Given the description of an element on the screen output the (x, y) to click on. 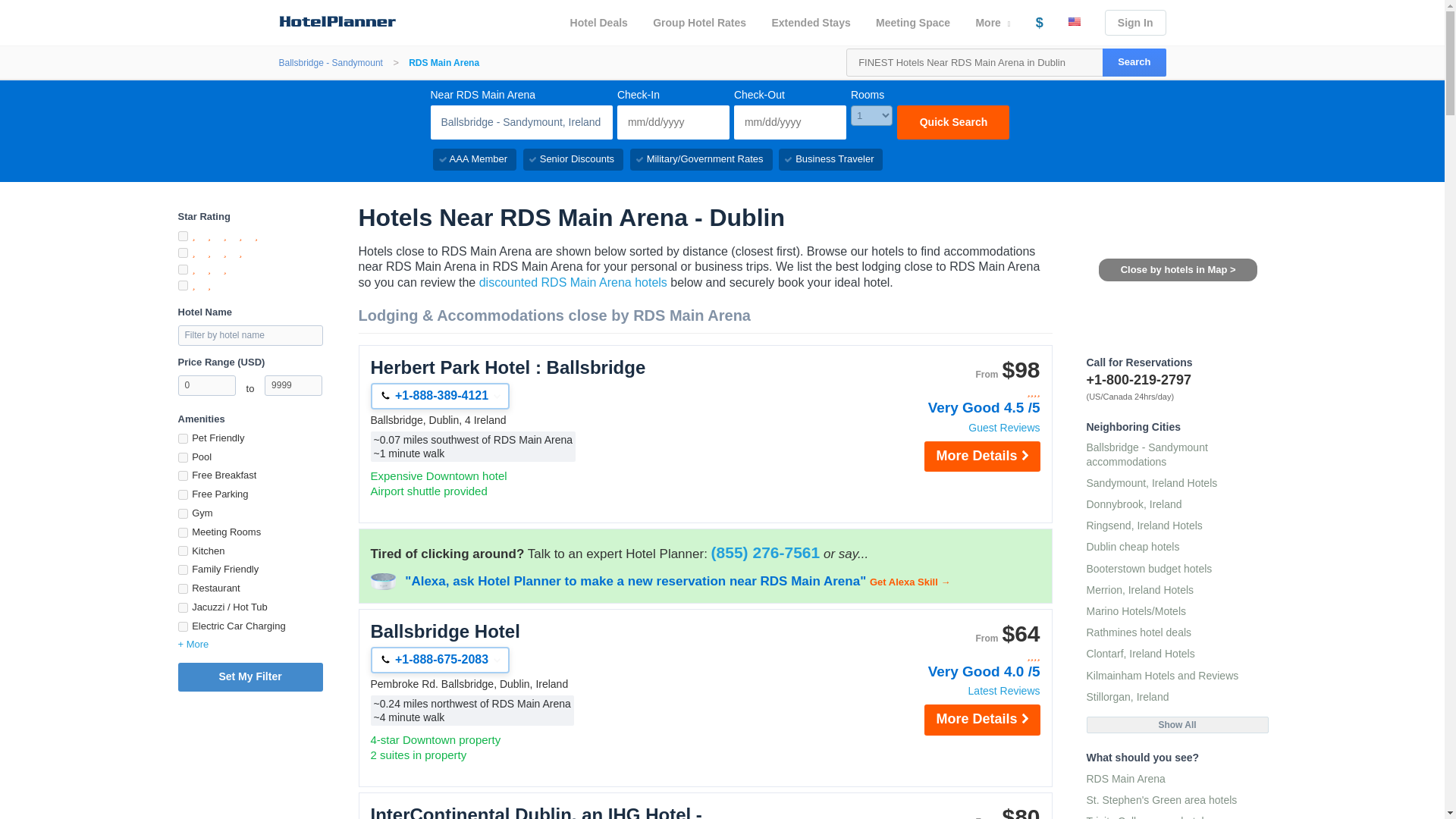
Ballsbridge - Sandymount (330, 63)
0 (205, 385)
Ballsbridge - Sandymount, Ireland (521, 122)
2 (182, 285)
14 (182, 457)
Quick Search (952, 122)
5 (182, 235)
Sign In (1135, 22)
4 stars (958, 391)
Herbert Park Hotel : Ballsbridge (546, 367)
Hotel Deals (599, 22)
Search (1134, 62)
44 (182, 475)
Set My Filter (249, 676)
4 (182, 252)
